Given the description of an element on the screen output the (x, y) to click on. 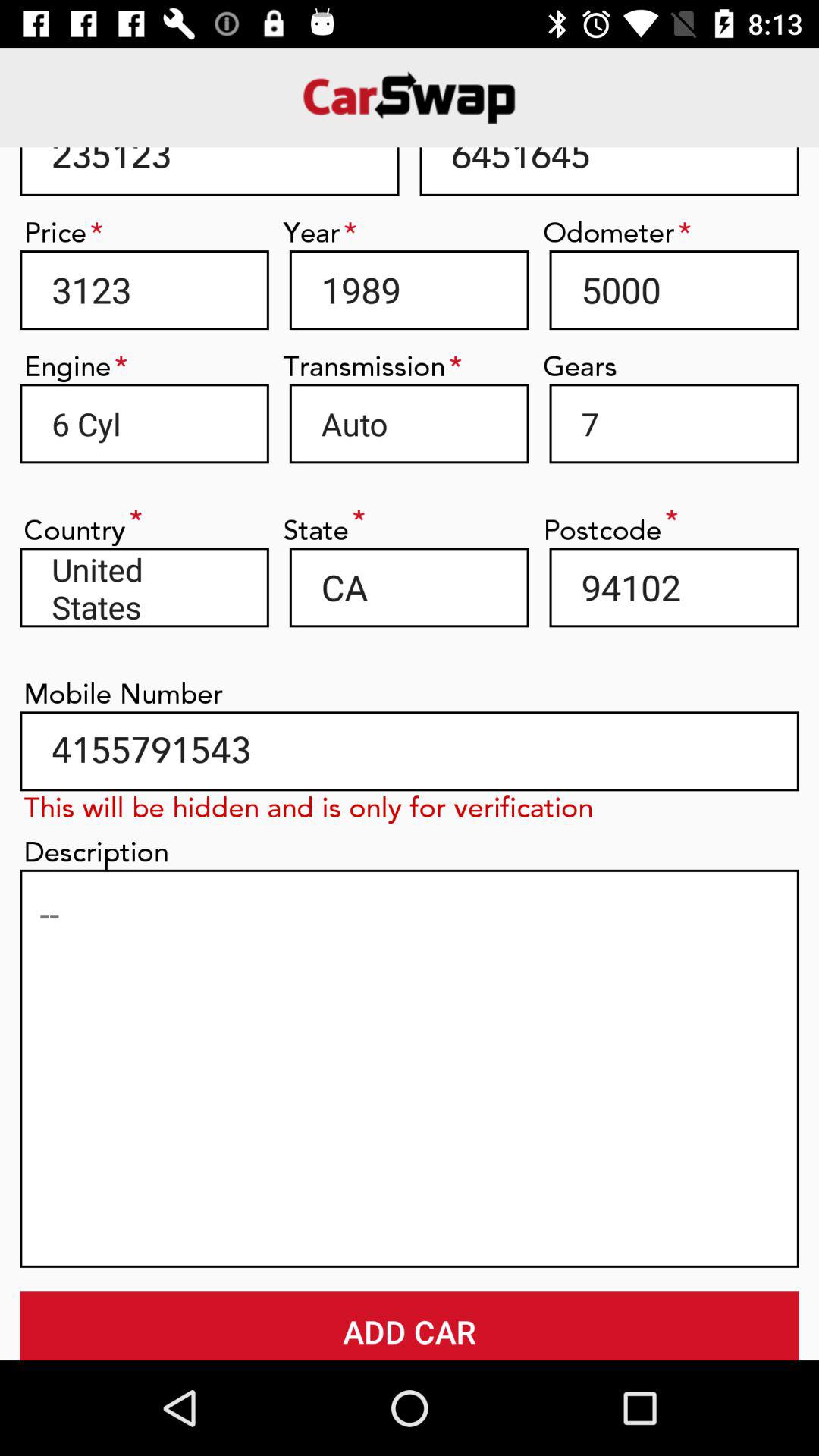
swipe until ca icon (408, 587)
